Given the description of an element on the screen output the (x, y) to click on. 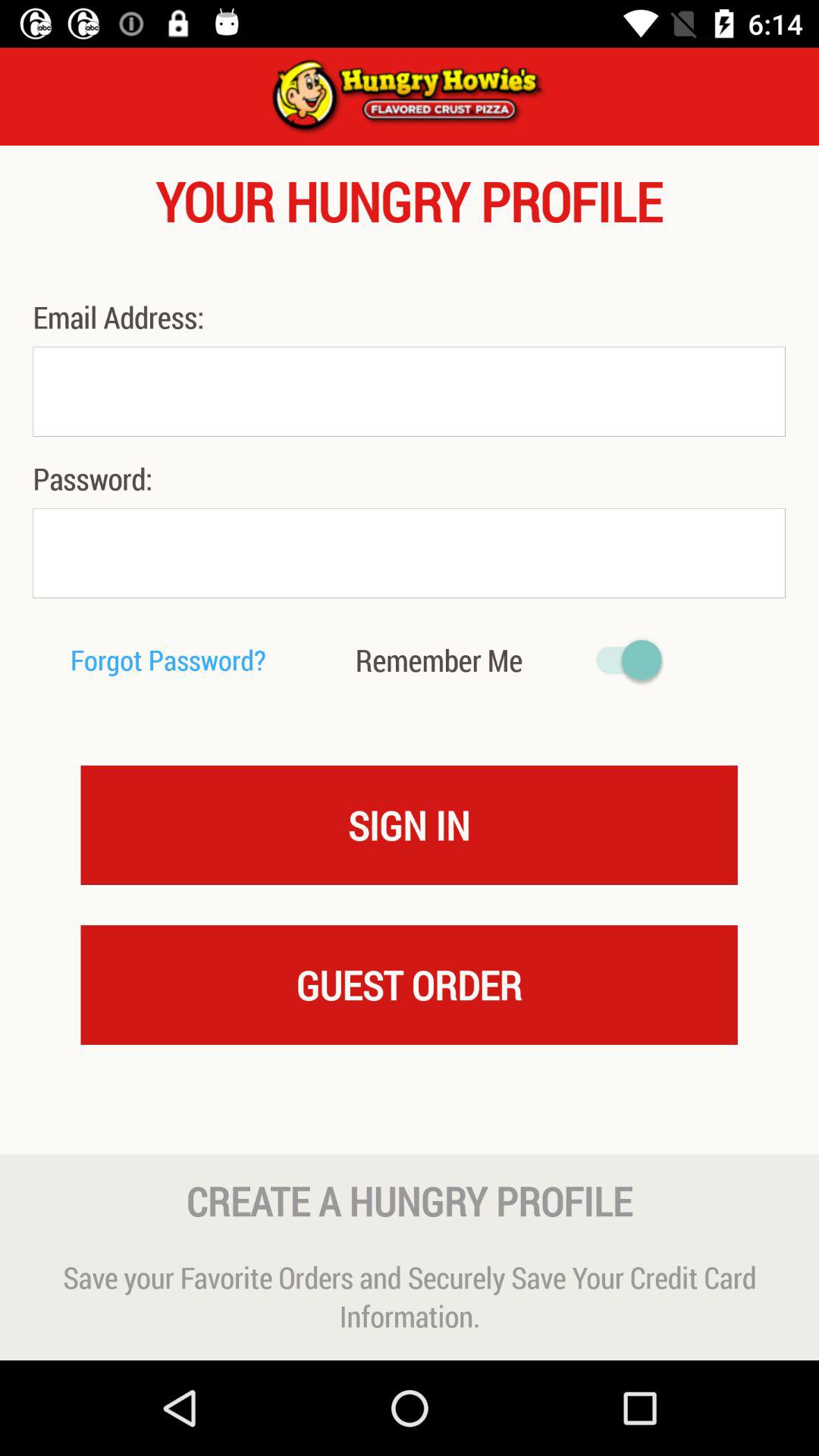
scroll until forgot password? item (167, 659)
